Given the description of an element on the screen output the (x, y) to click on. 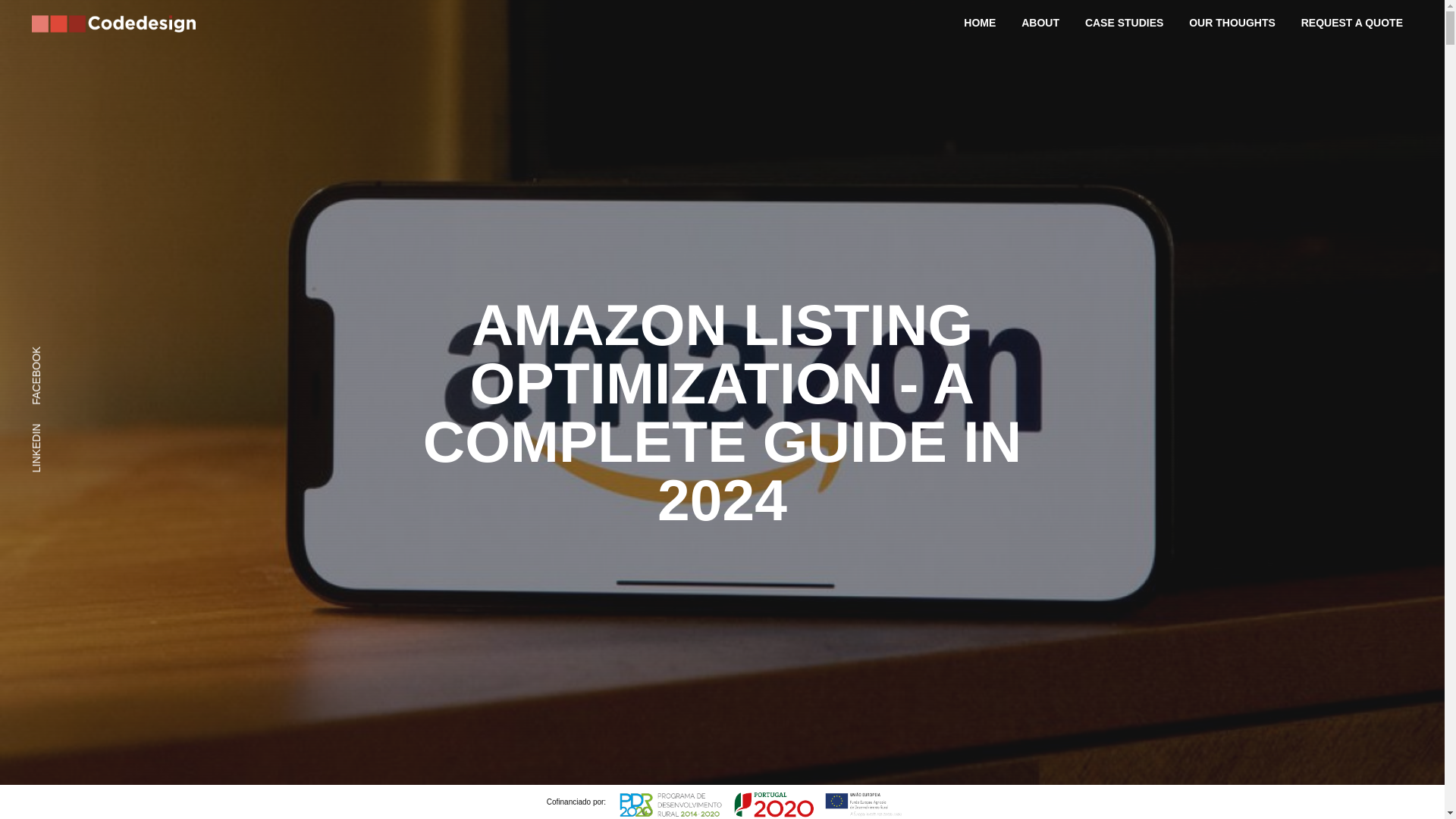
FACEBOOK (59, 355)
REQUEST A QUOTE (1352, 25)
ABOUT (1040, 25)
CASE STUDIES (1123, 25)
LINKEDIN (55, 433)
HOME (979, 25)
OUR THOUGHTS (1232, 25)
